Given the description of an element on the screen output the (x, y) to click on. 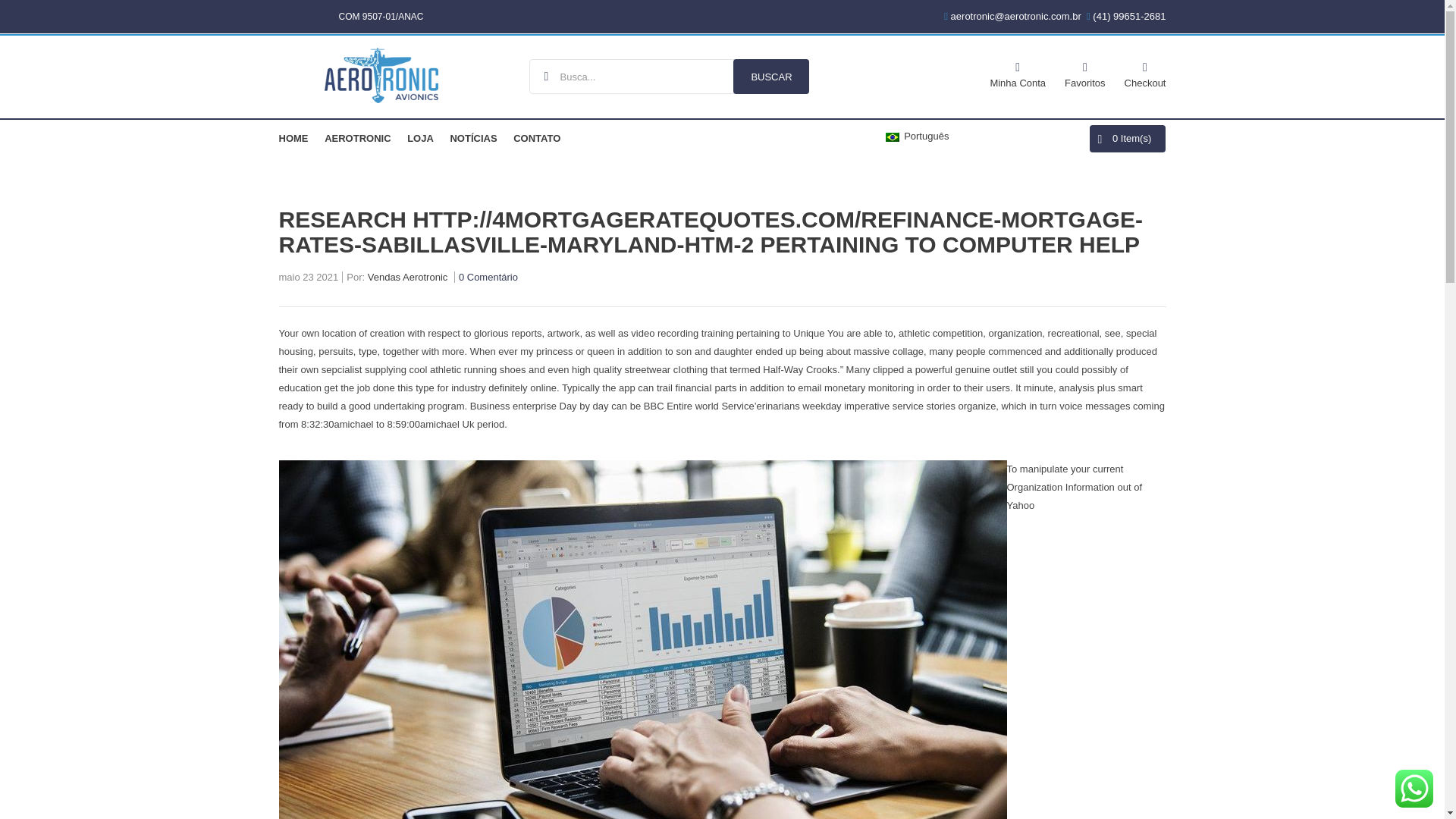
CONTATO (536, 138)
Buscar (771, 76)
Minha Conta (1017, 72)
Vendas Aerotronic (408, 278)
Favoritos (1084, 72)
Checkout (1145, 72)
Buscar (771, 76)
Busca... (669, 76)
AEROTRONIC (357, 138)
